Given the description of an element on the screen output the (x, y) to click on. 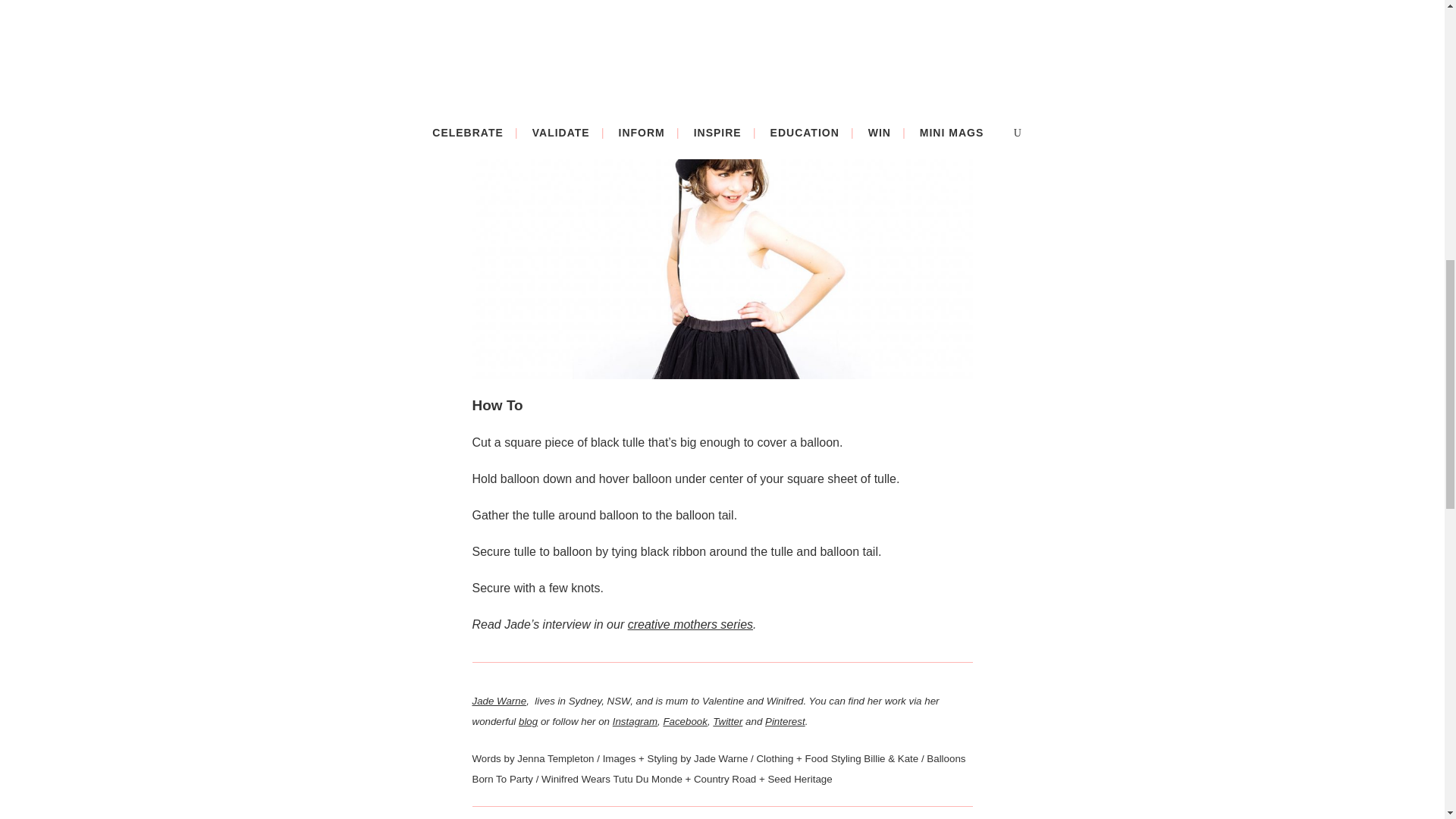
Instagram (635, 721)
blog (527, 721)
Pinterest (785, 721)
Twitter (727, 721)
Facebook (684, 721)
Jade Warne (498, 699)
creative mothers series (689, 624)
